Given the description of an element on the screen output the (x, y) to click on. 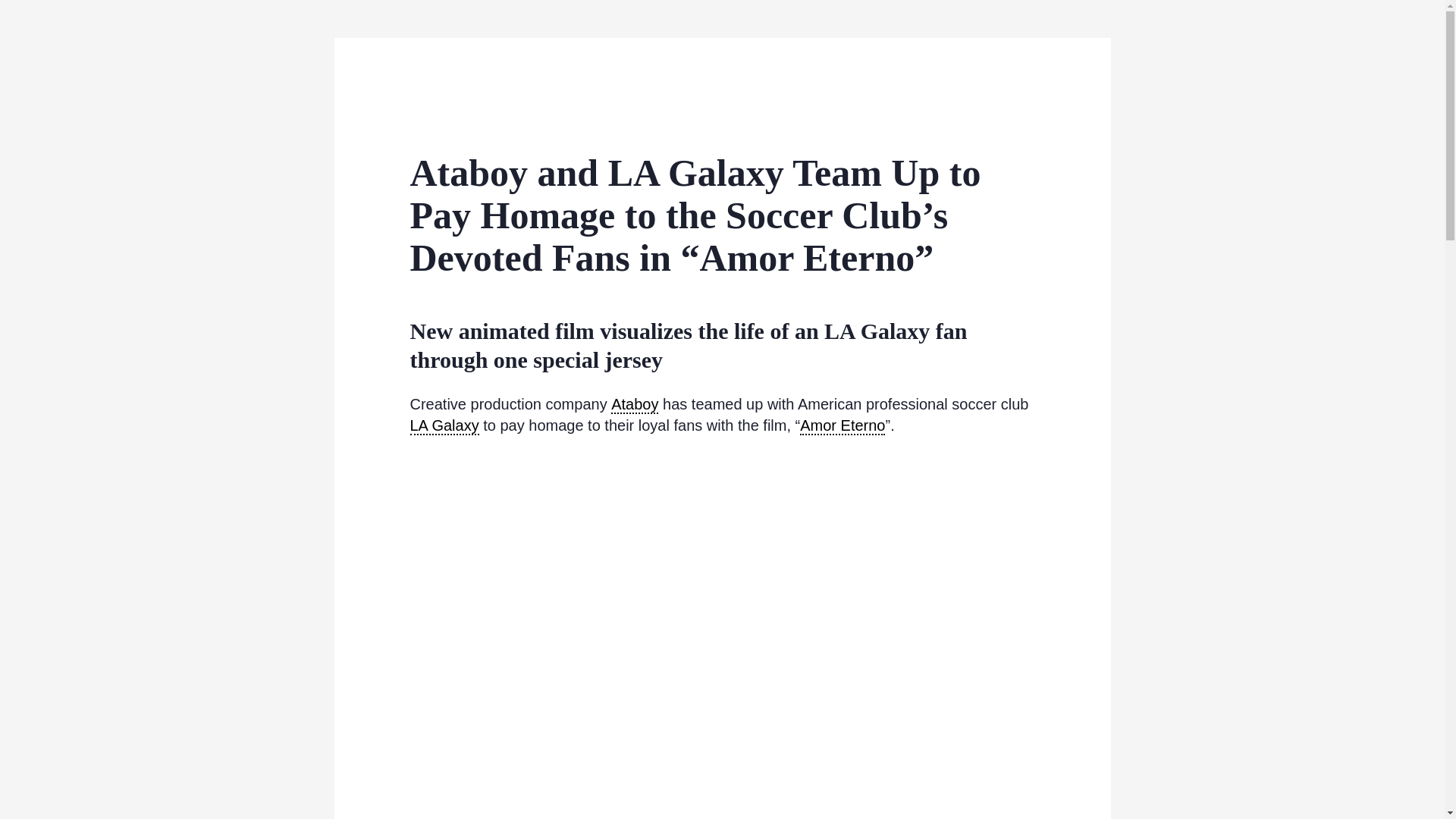
Amor Eterno (842, 425)
Ataboy (634, 404)
LA Galaxy (444, 425)
